Given the description of an element on the screen output the (x, y) to click on. 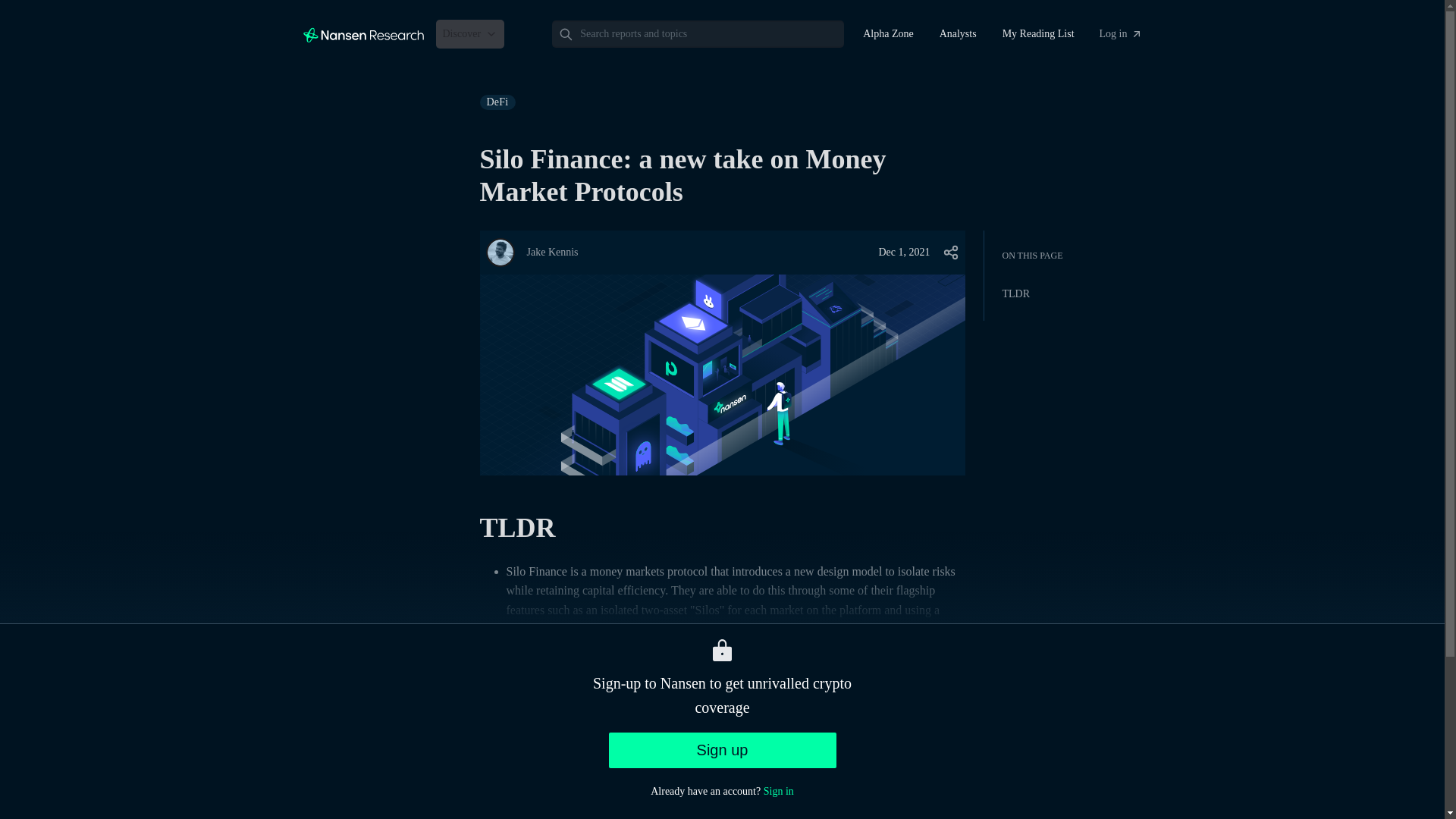
Alpha Zone (888, 33)
Analysts (958, 33)
Jake Kennis (551, 252)
Sign in (777, 790)
TLDR (1206, 293)
Log in (1120, 33)
Sign up (721, 750)
My Reading List (1038, 33)
Discover (469, 33)
